Given the description of an element on the screen output the (x, y) to click on. 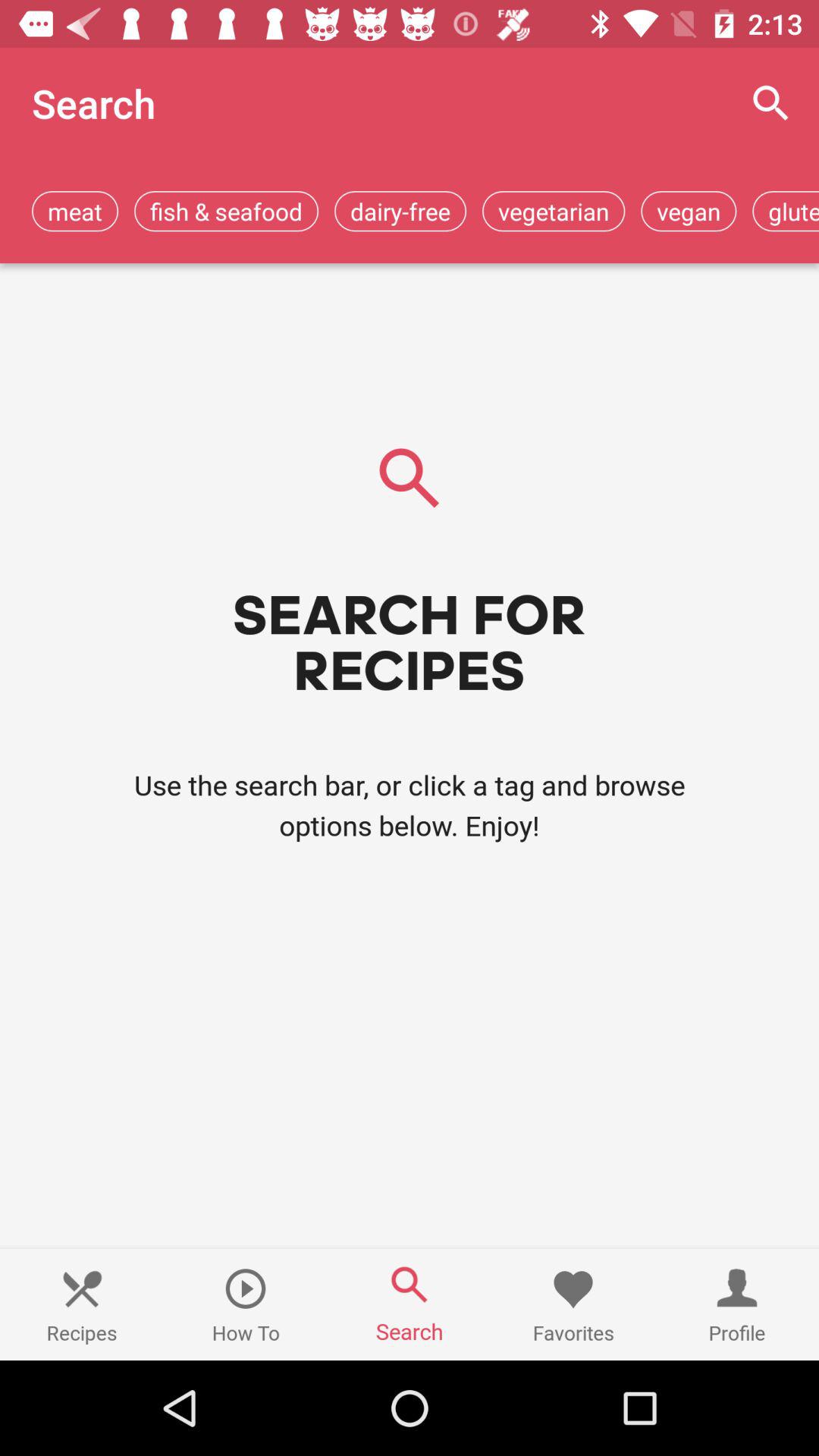
swipe until gluten-free item (785, 211)
